Given the description of an element on the screen output the (x, y) to click on. 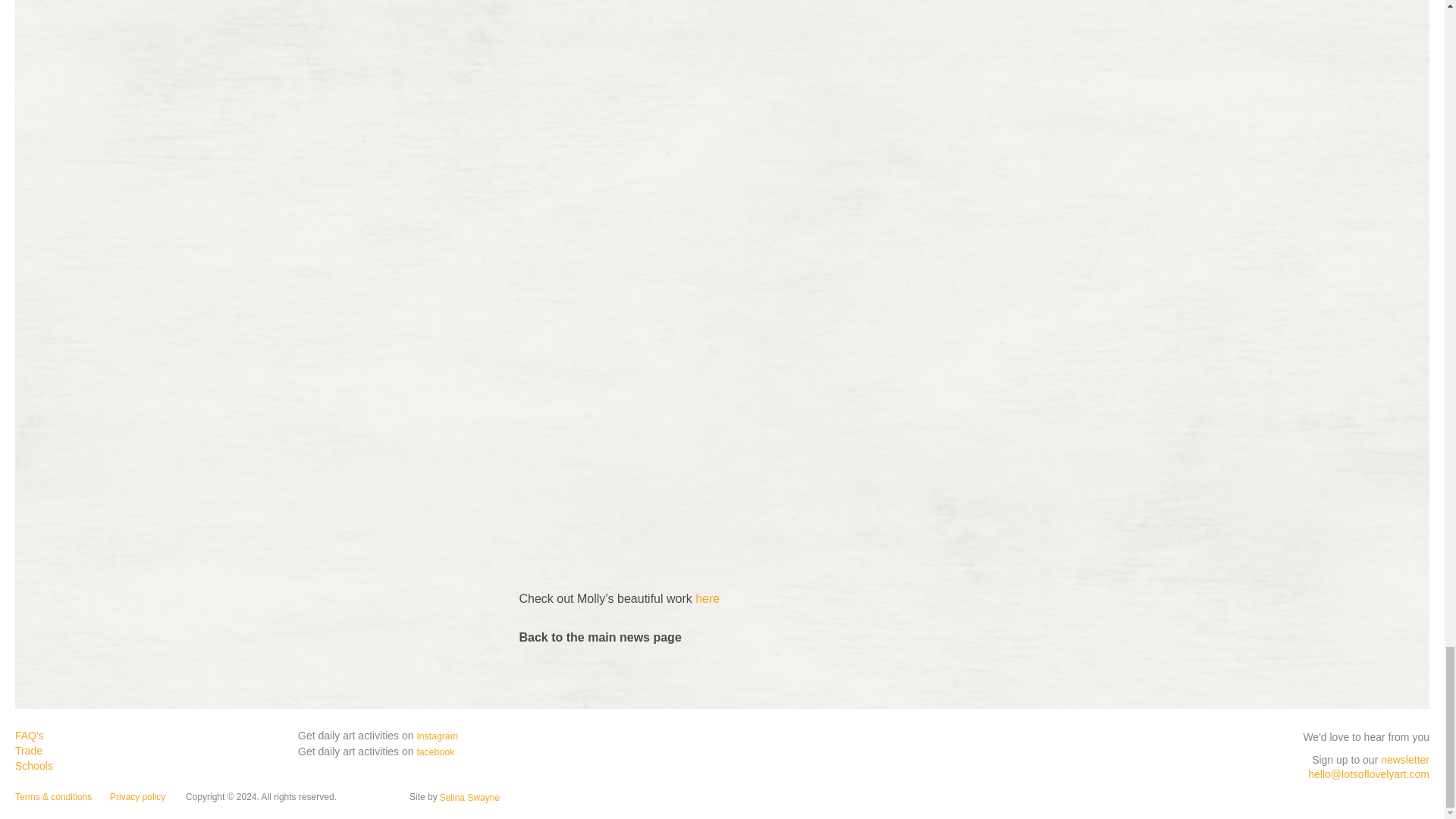
FAQ's (28, 735)
Get daily art activities on Instagram (378, 735)
Schools (33, 766)
Selina Swayne (469, 797)
here (707, 598)
Sign up to our newsletter (1370, 756)
Back to the main news page (599, 637)
Trade (28, 750)
Privacy policy (137, 796)
Get daily art activities on facebook (376, 751)
